Given the description of an element on the screen output the (x, y) to click on. 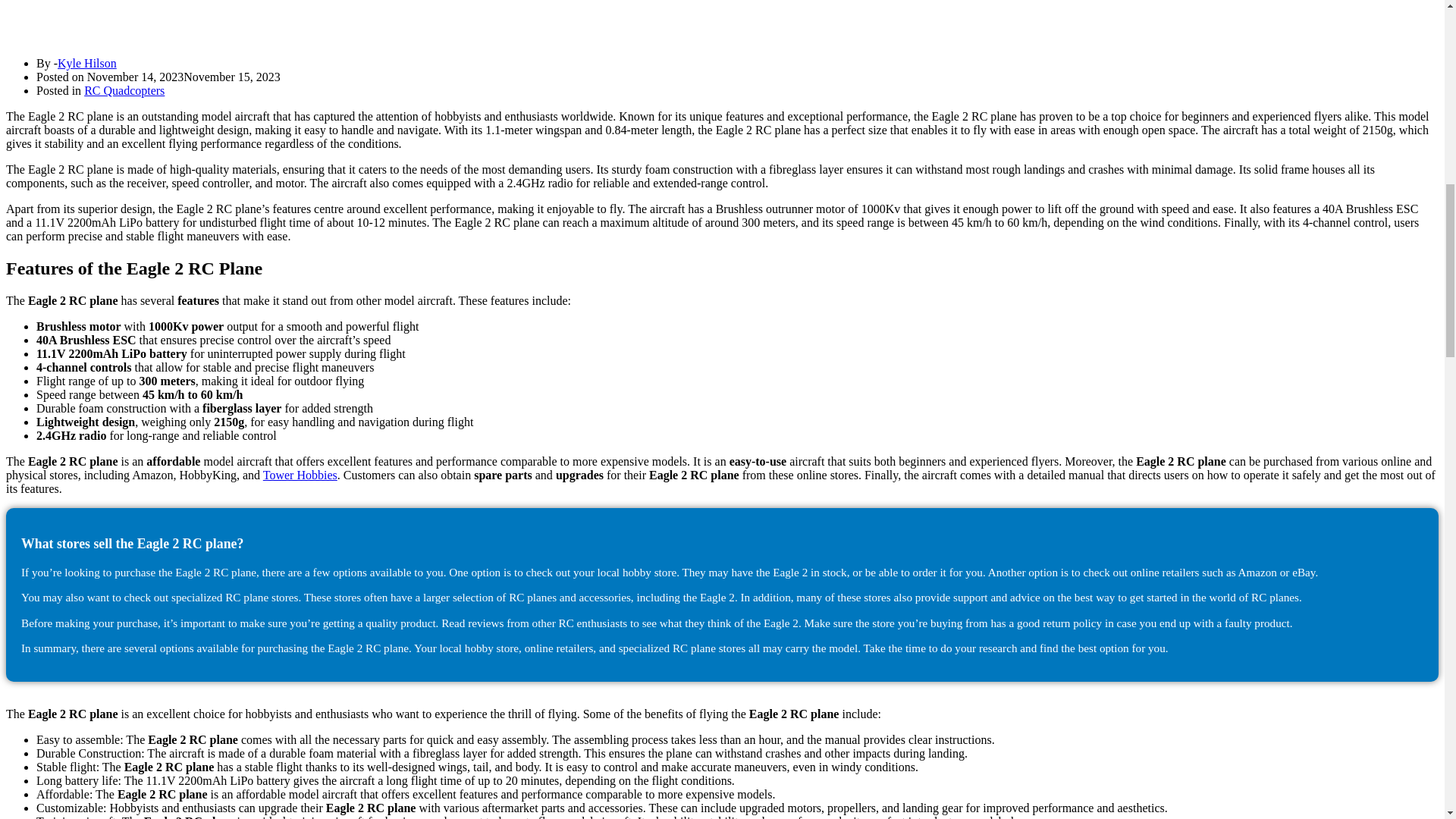
Tower Hobbies (300, 474)
RC Quadcopters (124, 90)
Kyle Hilson (87, 62)
